Given the description of an element on the screen output the (x, y) to click on. 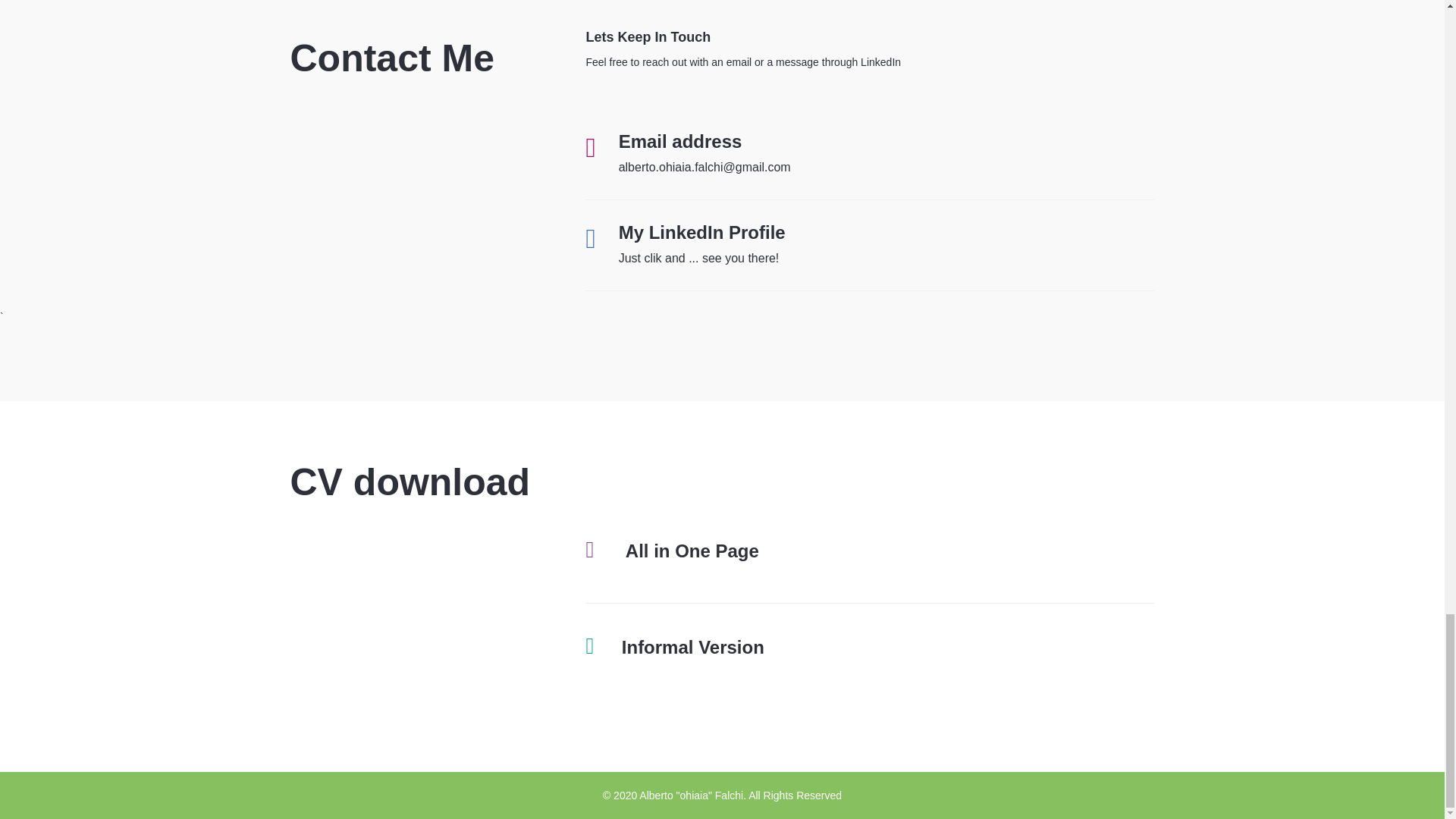
Informal Version (692, 647)
All in One Page (692, 550)
Alberto "ohiaia" Falchi. (692, 795)
Just clik and ... see you there! (698, 257)
All in One Page (692, 550)
Informal Version (692, 647)
